Given the description of an element on the screen output the (x, y) to click on. 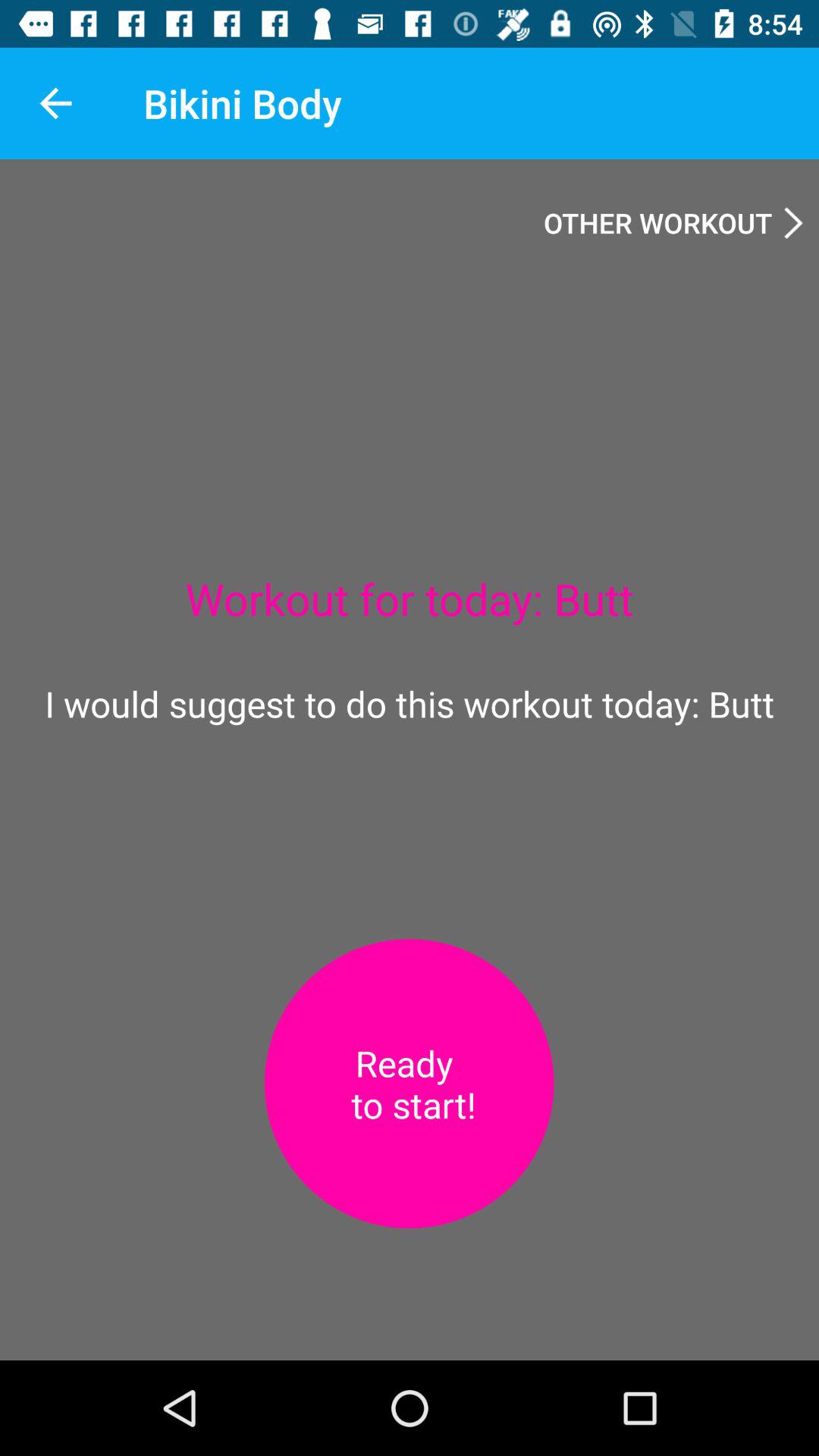
choose item above workout for today (673, 222)
